Given the description of an element on the screen output the (x, y) to click on. 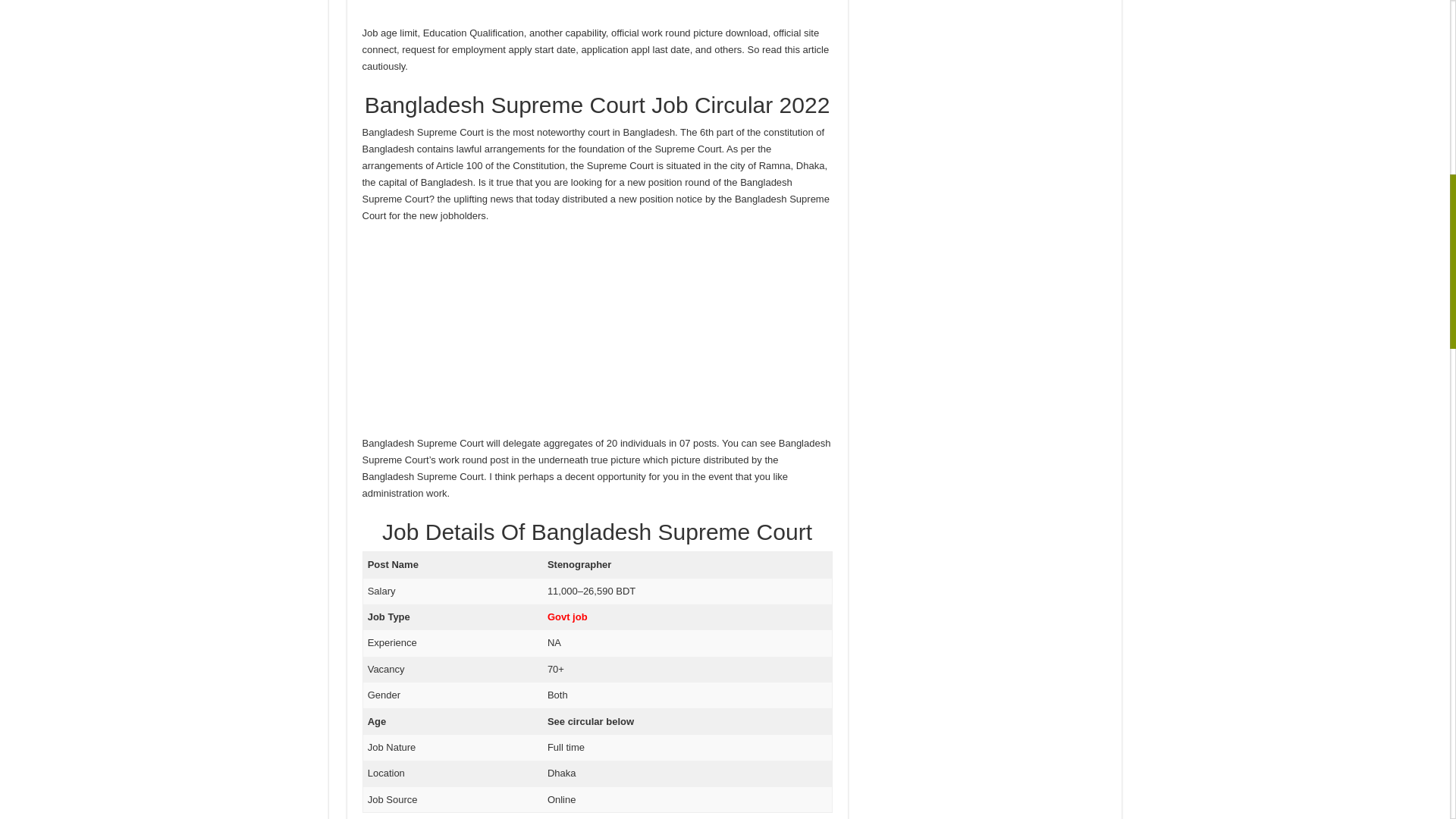
Govt job (567, 616)
